Given the description of an element on the screen output the (x, y) to click on. 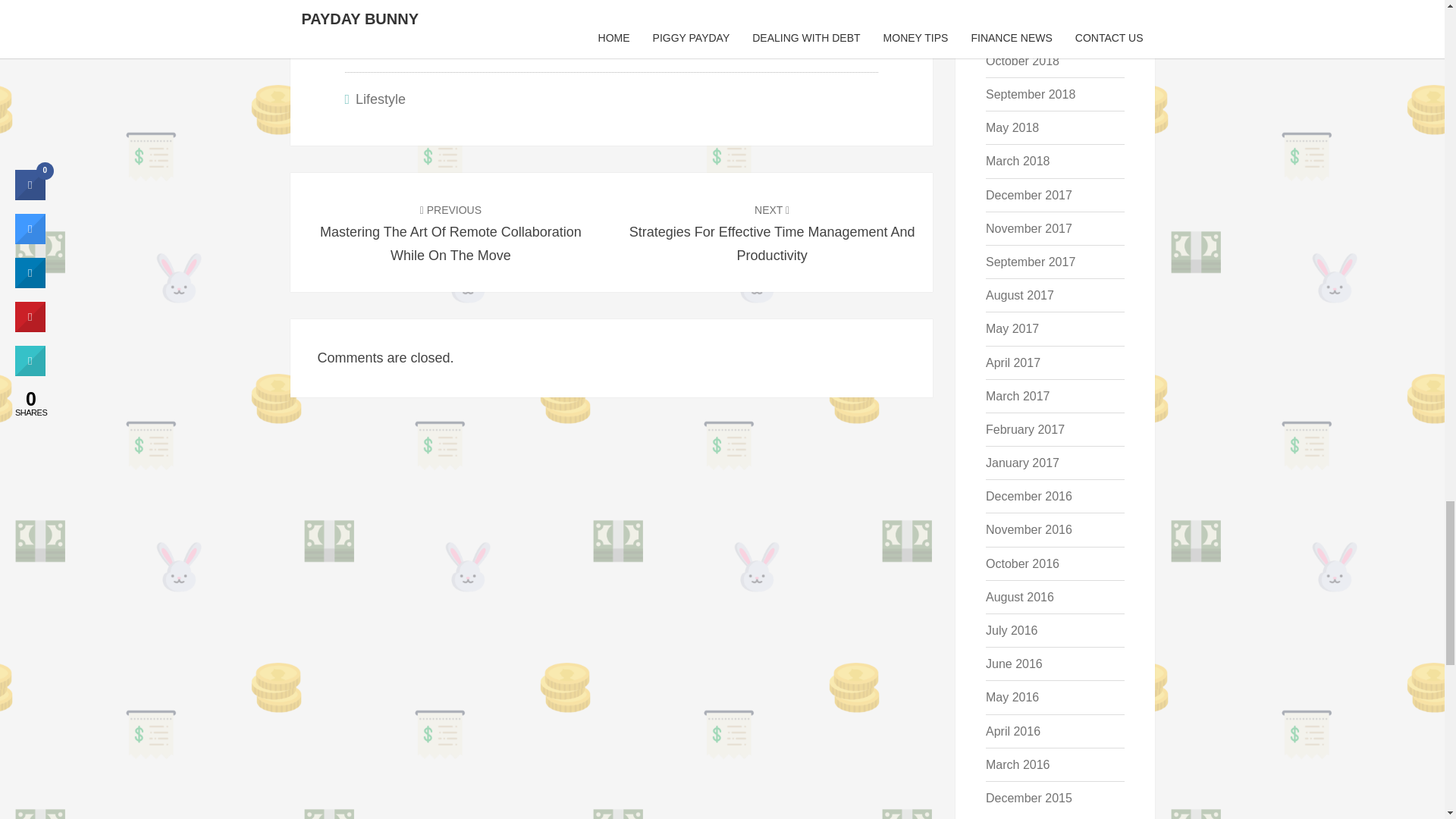
Lifestyle (380, 99)
Does CBD Oil Expire: What You Need To Know? (410, 20)
Budgeting and Money Management (541, 20)
Does CBD Oil Expire: What You Need To Know? (410, 20)
Budgeting and Money Management (541, 20)
